Given the description of an element on the screen output the (x, y) to click on. 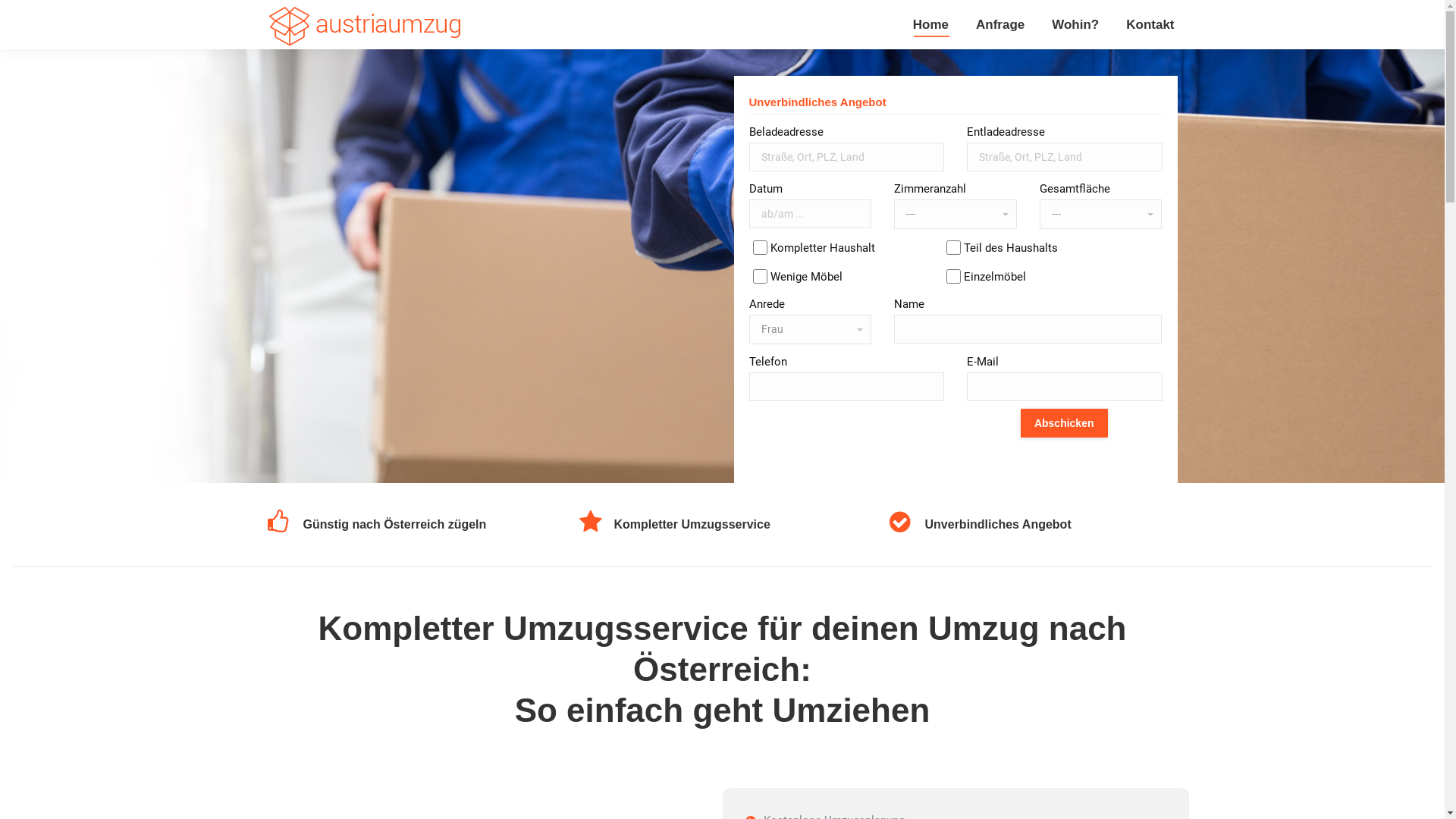
Home Element type: text (930, 24)
Abschicken Element type: text (1063, 422)
Wohin? Element type: text (1074, 24)
Anfrage Element type: text (999, 24)
Kontakt Element type: text (1149, 24)
